Given the description of an element on the screen output the (x, y) to click on. 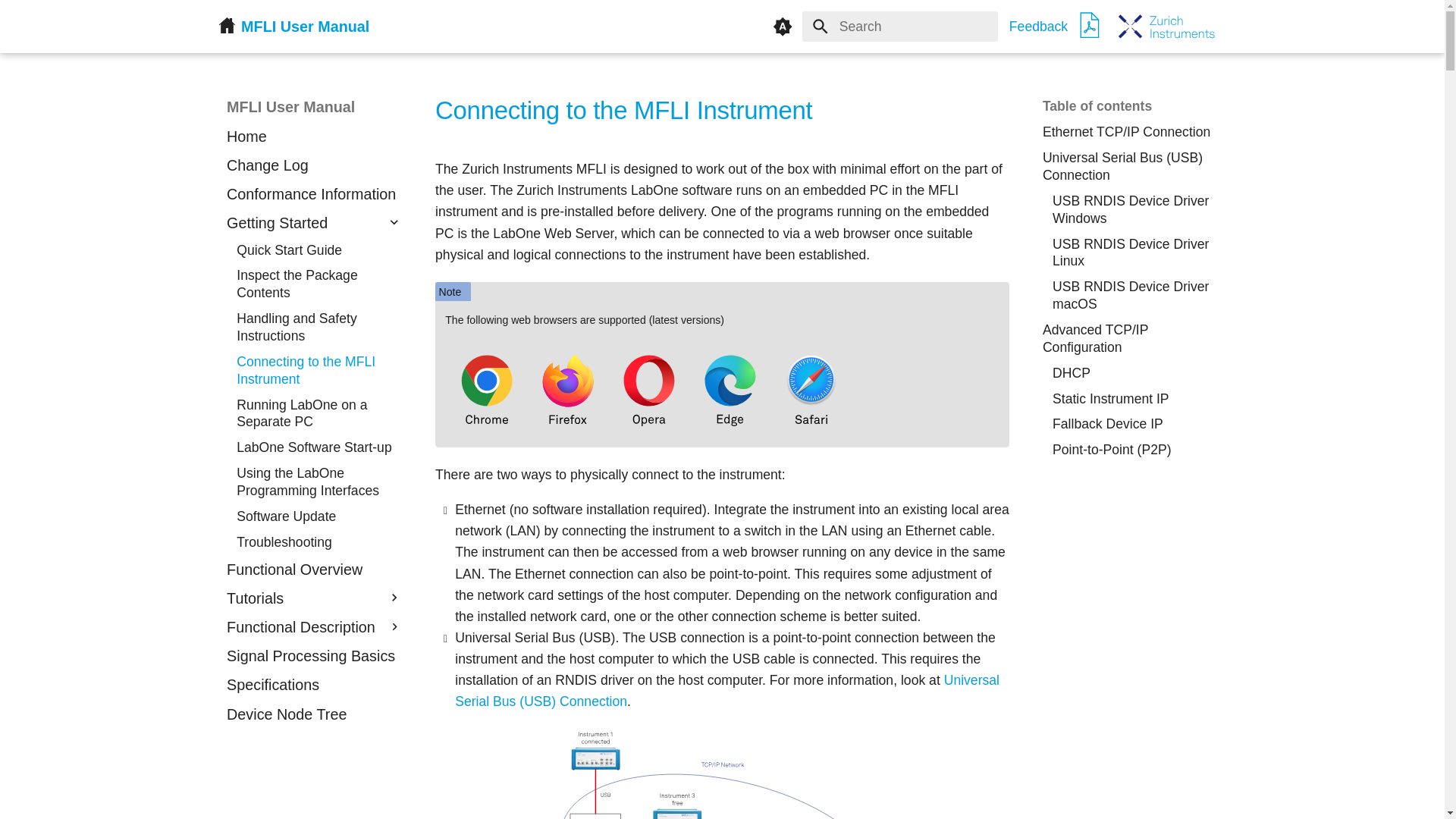
Quick Start Guide (318, 250)
Change Log (314, 166)
Inspect the Package Contents (318, 284)
Conformance Information (314, 194)
Handling and Safety Instructions (318, 327)
Troubleshooting (318, 542)
Using the LabOne Programming Interfaces (318, 482)
Home (314, 137)
Tutorials (303, 598)
Feedback (1038, 26)
